Given the description of an element on the screen output the (x, y) to click on. 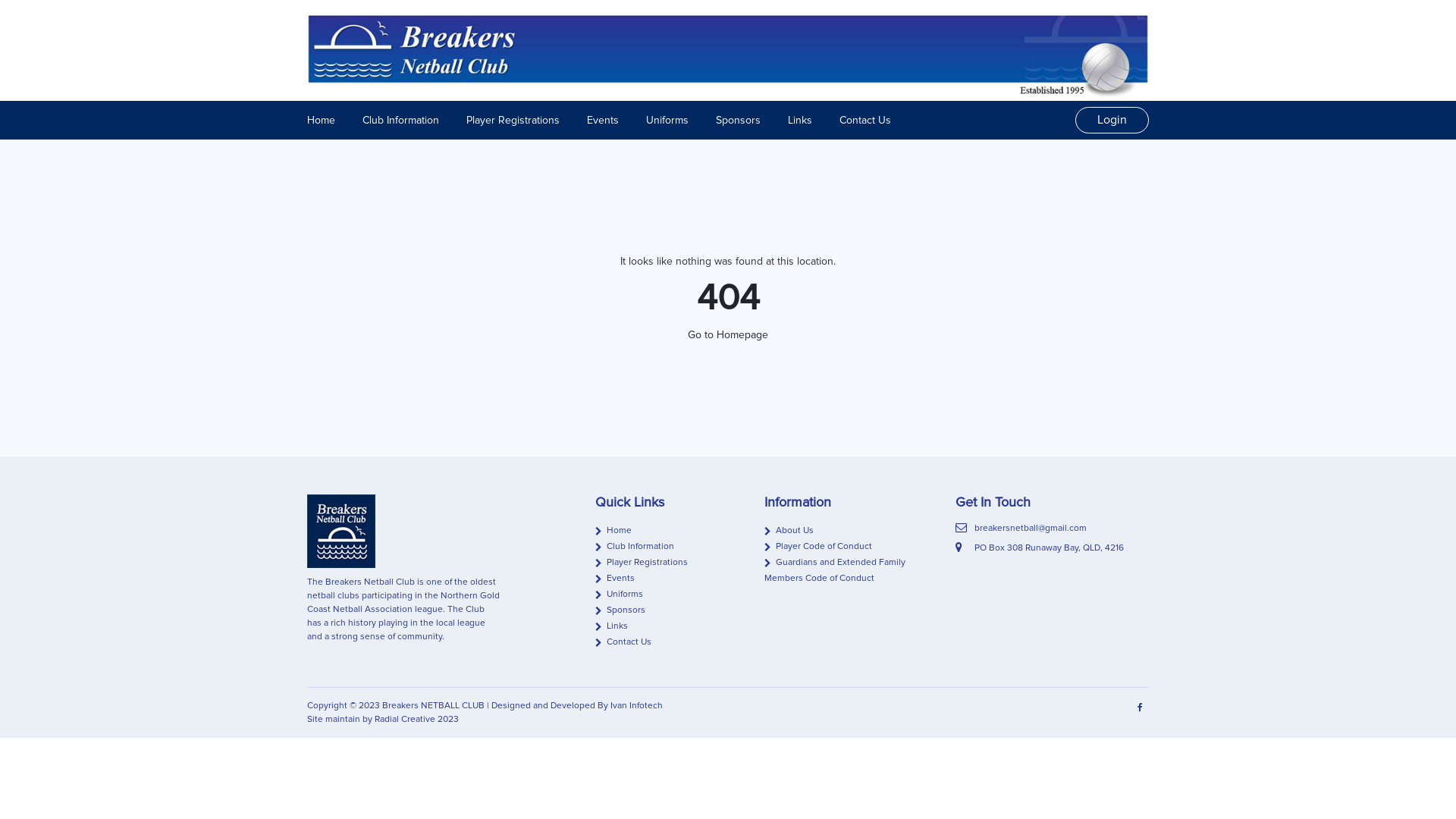
Events Element type: text (614, 577)
Uniforms Element type: text (667, 119)
Events Element type: text (602, 119)
Guardians and Extended Family
Members Code of Conduct Element type: text (834, 569)
Radial Creative 2023 Element type: text (416, 718)
Home Element type: text (613, 530)
Login Element type: text (1111, 120)
About Us Element type: text (788, 530)
Ivan Infotech Element type: text (636, 705)
Sponsors Element type: text (620, 609)
Player Code of Conduct Element type: text (818, 546)
breakersnetball@gmail.com Element type: text (1030, 527)
Contact Us Element type: text (623, 641)
Breakers Netball Club Element type: hover (727, 52)
Player Registrations Element type: text (512, 119)
Player Registrations Element type: text (641, 561)
Sponsors Element type: text (737, 119)
Go to Homepage Element type: text (727, 334)
Club Information Element type: text (400, 119)
Contact Us Element type: text (865, 119)
Links Element type: text (799, 119)
Club Information Element type: text (634, 546)
Uniforms Element type: text (619, 593)
Links Element type: text (611, 625)
Home Element type: text (321, 119)
